Given the description of an element on the screen output the (x, y) to click on. 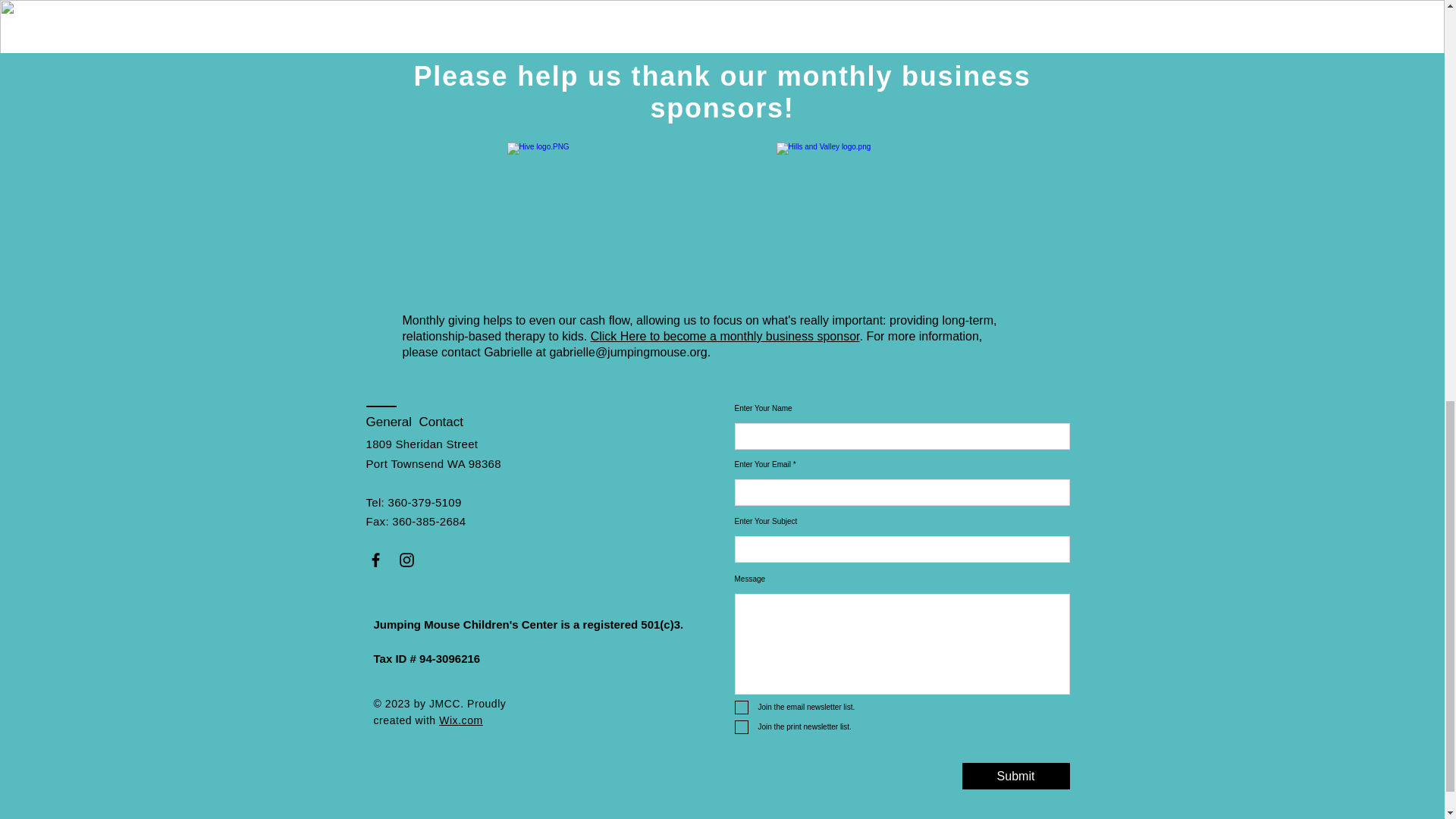
Wix.com (461, 720)
Submit (1014, 775)
Jumping Mouse Children's Center (464, 624)
Click Here to become a monthly business sponsor (725, 336)
